Given the description of an element on the screen output the (x, y) to click on. 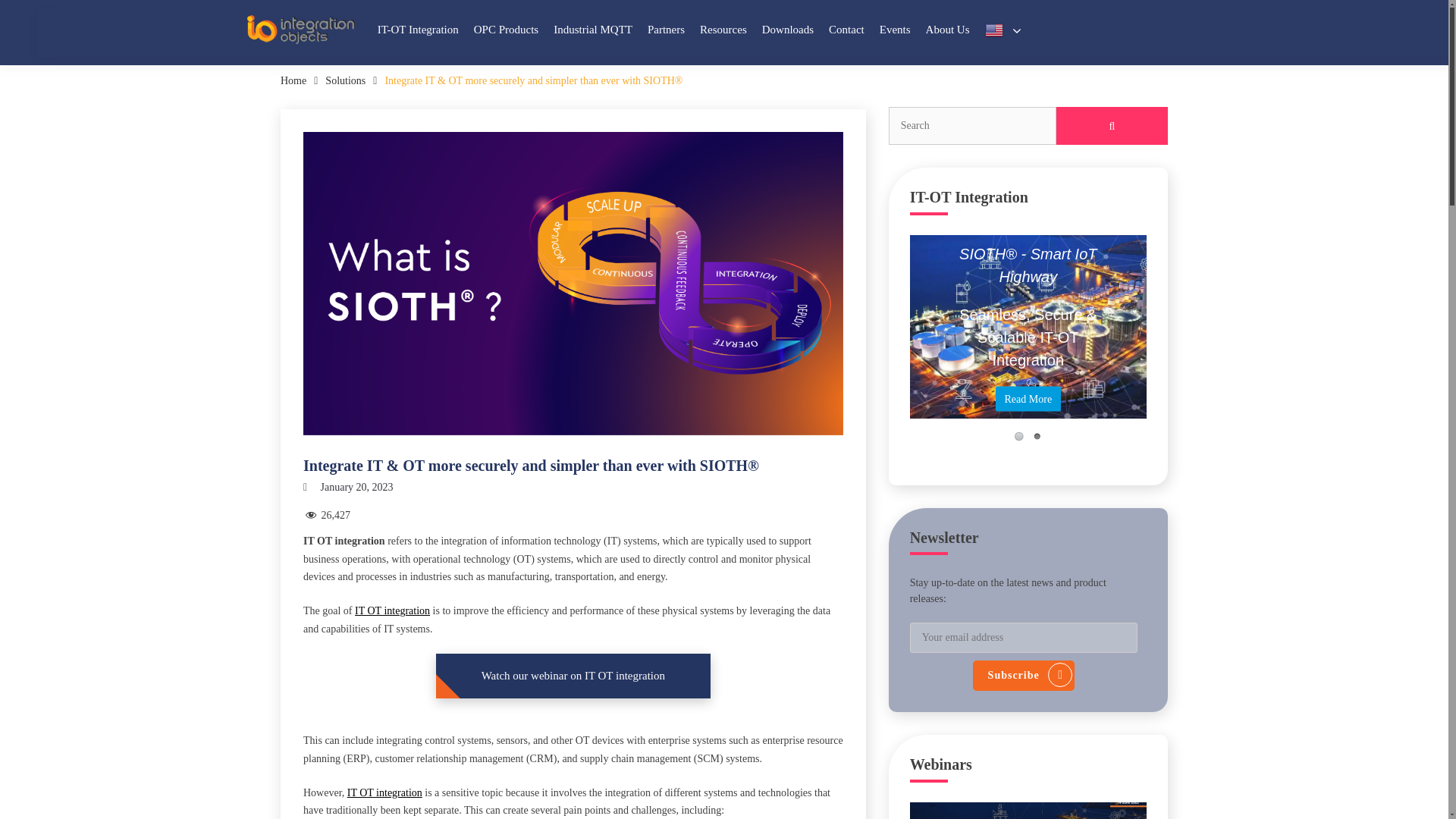
OPC UA IoT Broker (842, 341)
OPC UA Server For Databases (842, 312)
OPC UA Server For DNP3 (842, 244)
IT-OT Integration (417, 29)
OPC UA Server For SNMP (842, 214)
OPC UA Wrapper (842, 223)
OPC UA Server Toolkit (842, 401)
OPC UA Client (842, 164)
OPC UA Client Toolkit (842, 253)
OPC DA Archiver (842, 489)
OPC UA Universal Server (842, 135)
OPC DA Logger For CSV (842, 519)
OPC Client For OLEDB (842, 430)
OPC Data Archiving (499, 144)
OPC Products (506, 29)
